Given the description of an element on the screen output the (x, y) to click on. 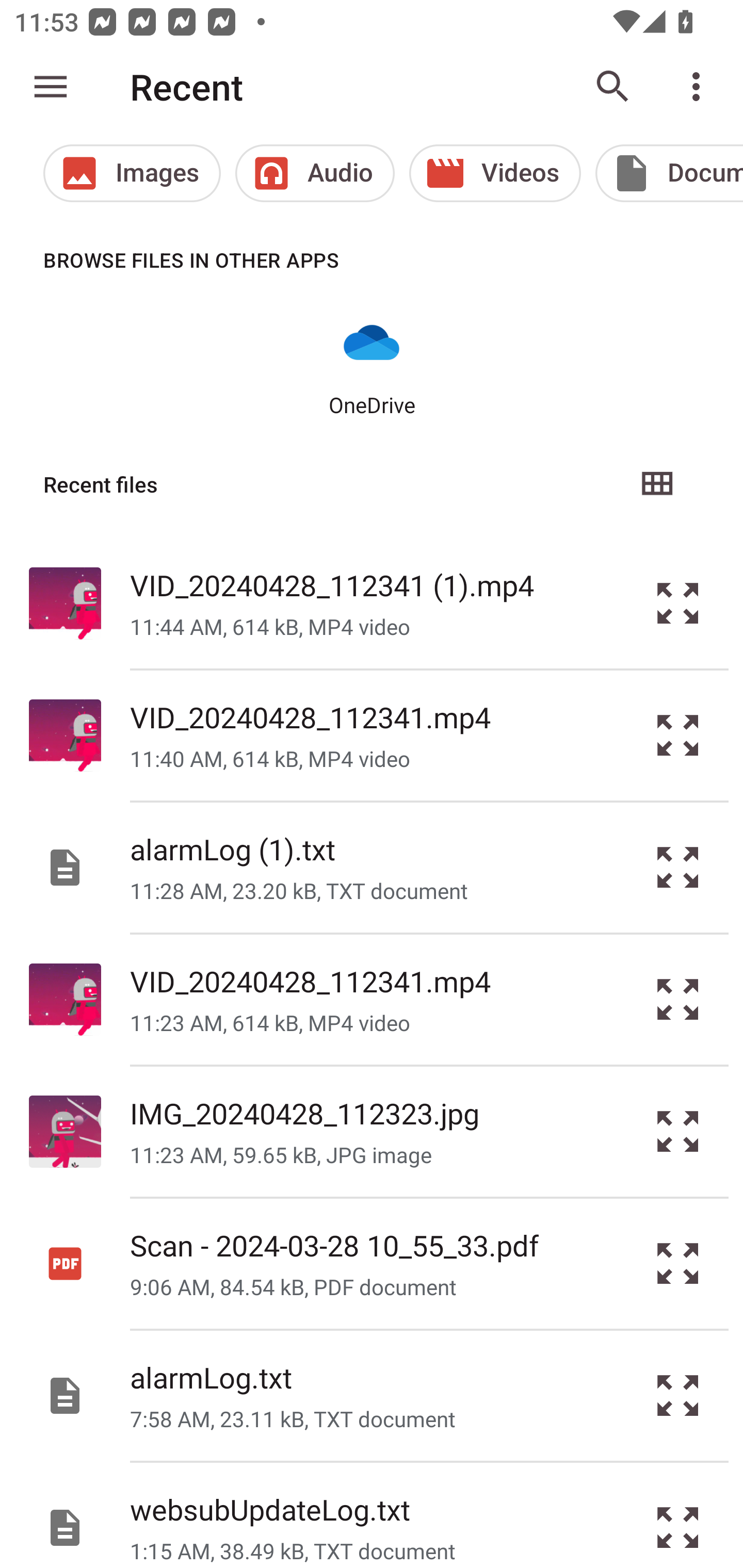
Show roots (50, 86)
Search (612, 86)
More options (699, 86)
Images (131, 173)
Audio (314, 173)
Videos (495, 173)
Documents (669, 173)
OneDrive (371, 365)
Grid view (655, 484)
Preview the file VID_20240428_112341 (1).mp4 (677, 602)
Preview the file VID_20240428_112341.mp4 (677, 736)
Preview the file alarmLog (1).txt (677, 867)
Preview the file VID_20240428_112341.mp4 (677, 999)
Preview the file IMG_20240428_112323.jpg (677, 1131)
Preview the file Scan - 2024-03-28 10_55_33.pdf (677, 1262)
Preview the file alarmLog.txt (677, 1396)
Preview the file websubUpdateLog.txt (677, 1515)
